Given the description of an element on the screen output the (x, y) to click on. 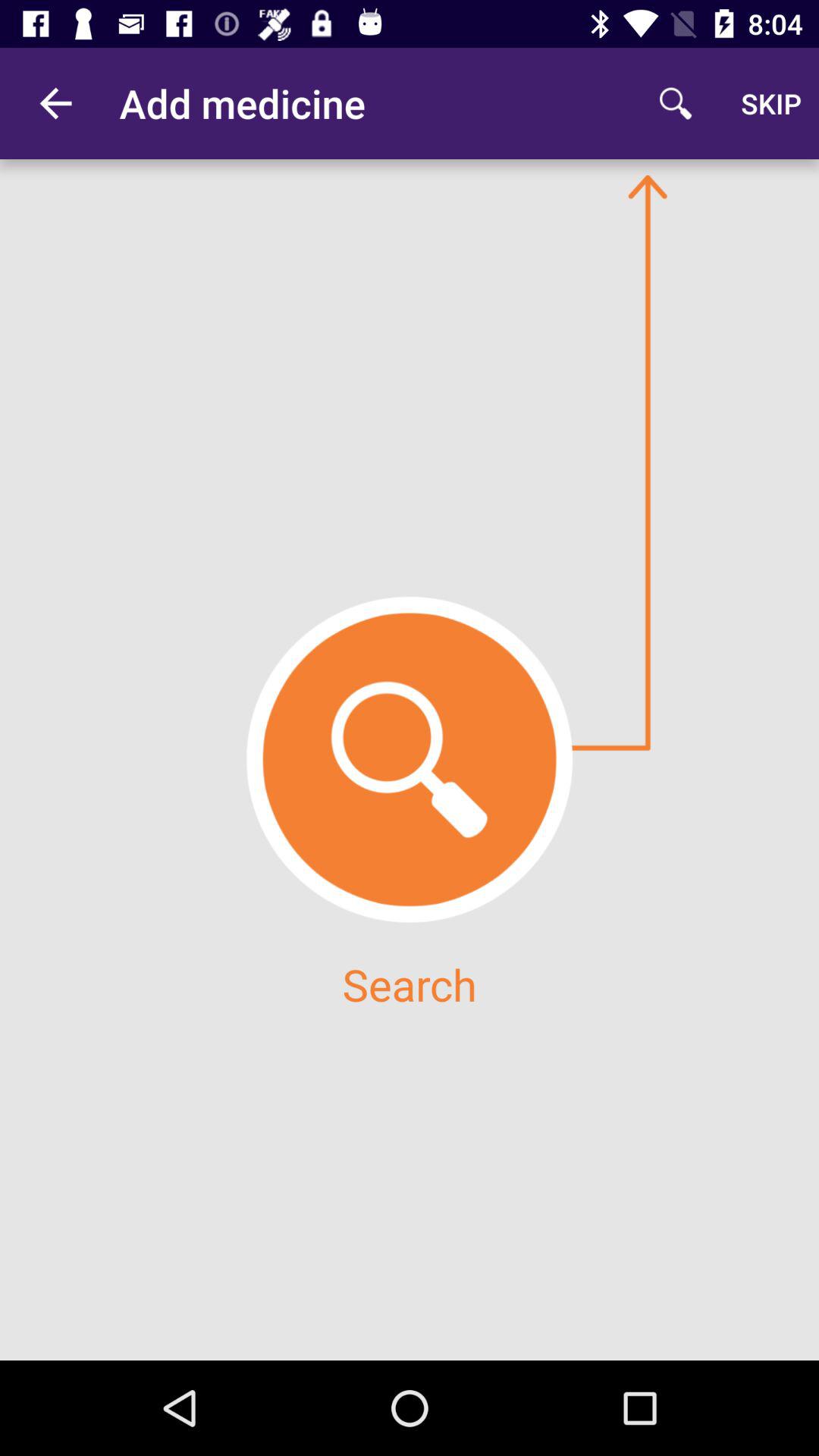
turn off the icon next to add medicine (55, 103)
